Given the description of an element on the screen output the (x, y) to click on. 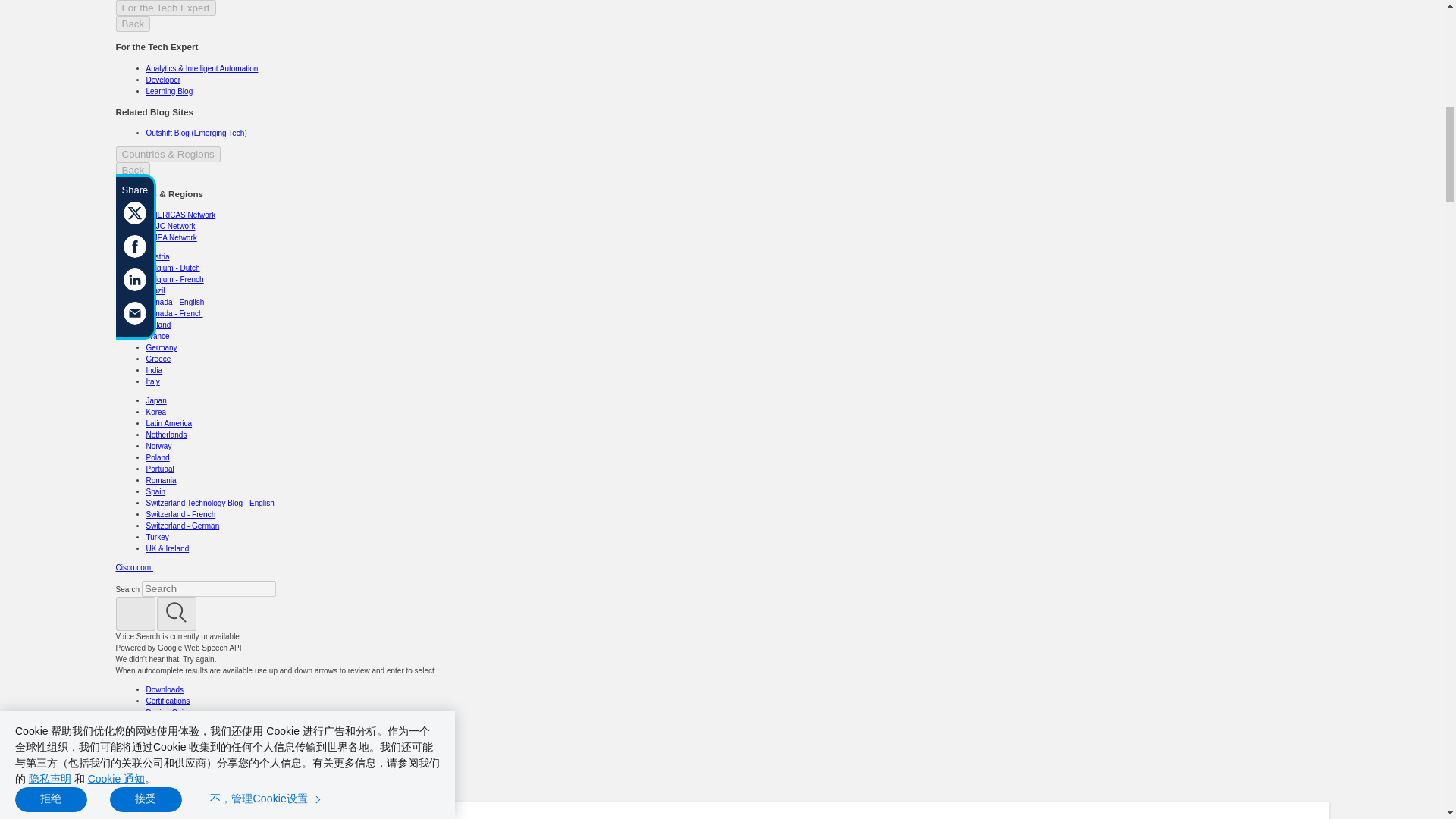
Cisco Blogs (249, 818)
